Given the description of an element on the screen output the (x, y) to click on. 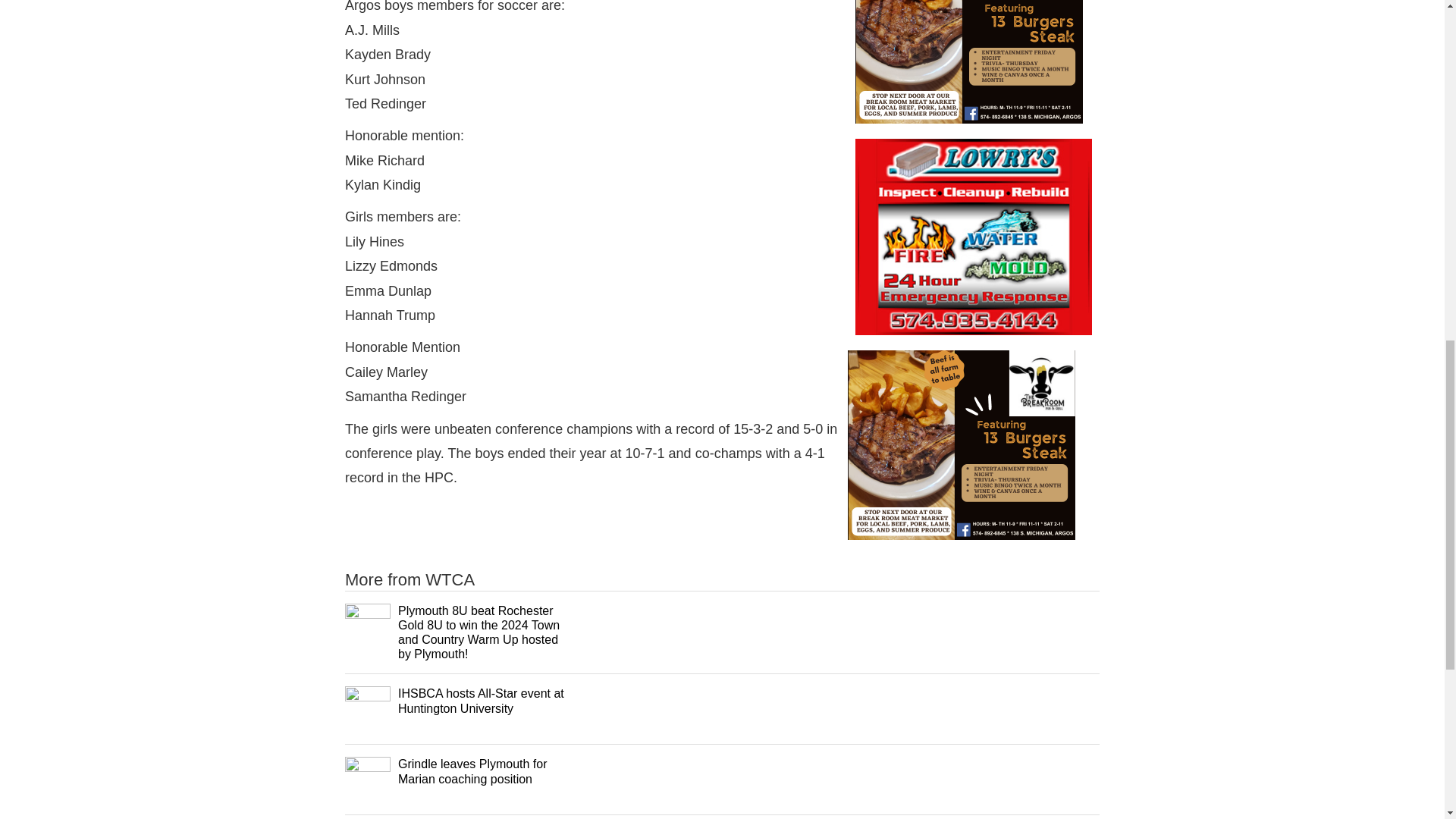
IHSBCA hosts All-Star event at Huntington University (480, 700)
Grindle leaves Plymouth for Marian coaching position (472, 770)
